Given the description of an element on the screen output the (x, y) to click on. 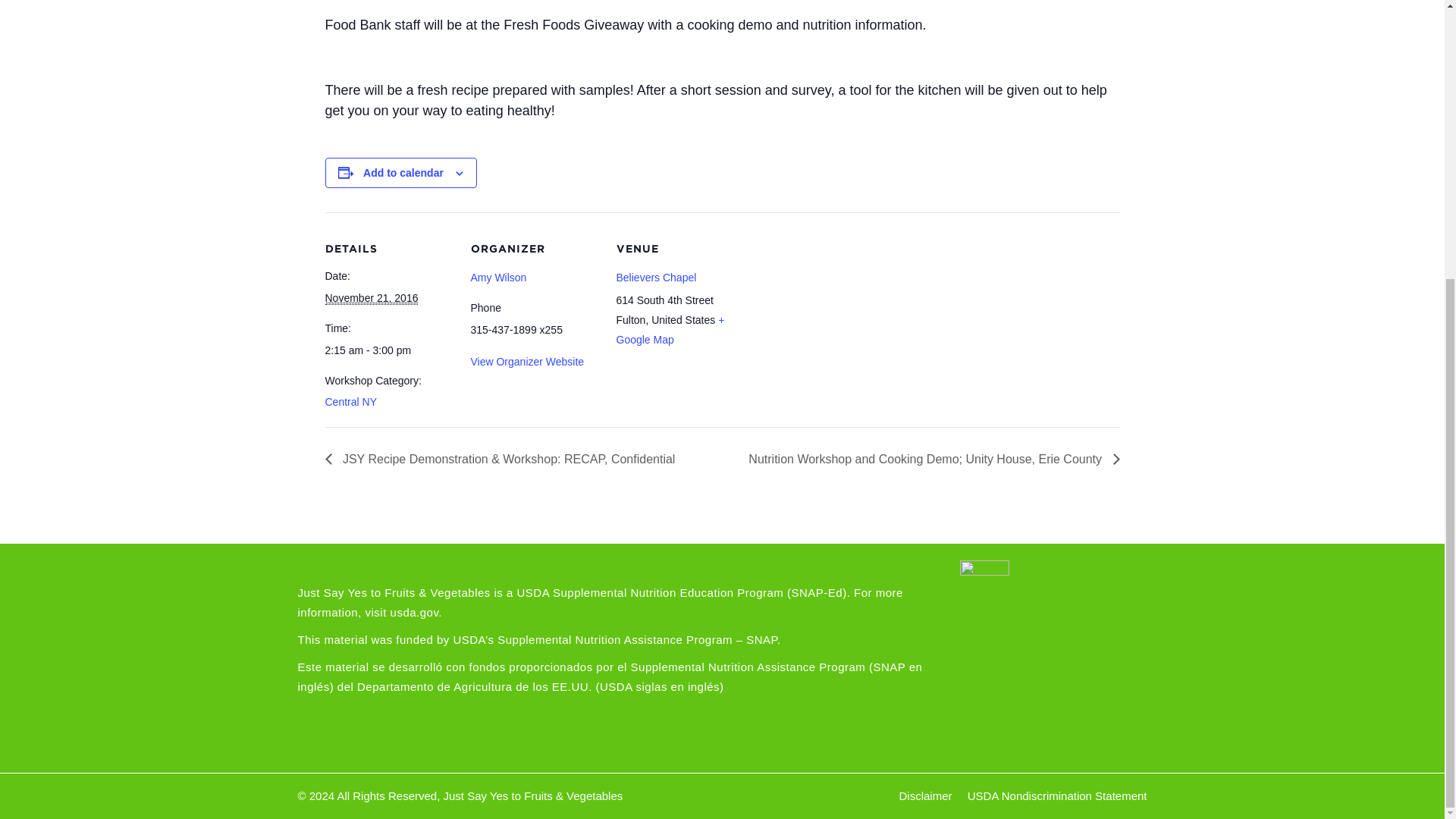
2016-11-21 (370, 297)
Amy Wilson (497, 277)
Central NY (349, 401)
View Organizer Website (526, 361)
Click to view a Google Map (669, 329)
Add to calendar (403, 173)
Amy Wilson (497, 277)
2016-11-21 (387, 350)
Believers Chapel (655, 277)
